Given the description of an element on the screen output the (x, y) to click on. 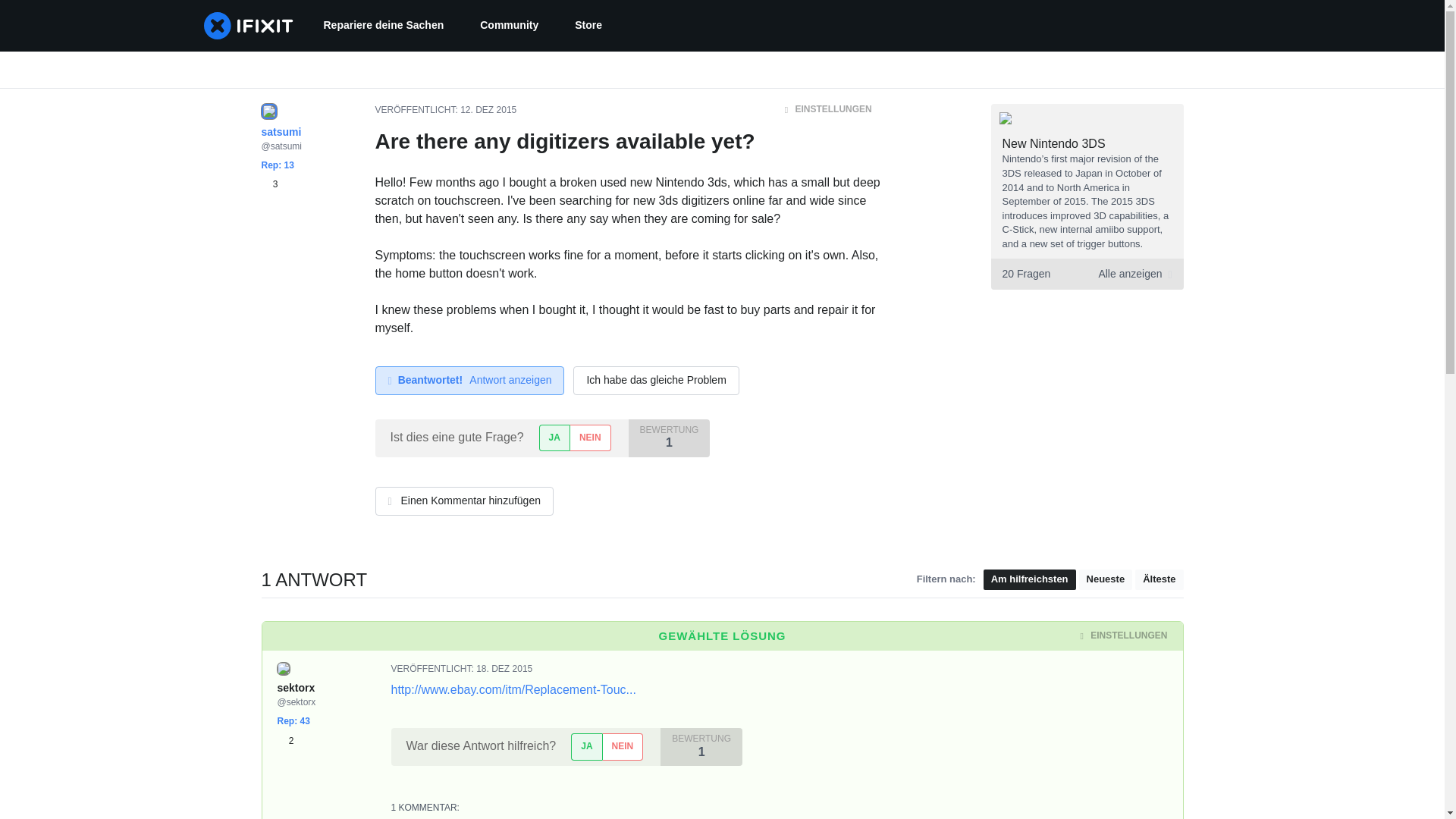
3 (269, 184)
Am hilfreichsten (1029, 579)
Store (588, 25)
NEIN (622, 746)
New Nintendo 3DS (1054, 143)
2 Bronze Auszeichnungen (286, 739)
Fri, 18 Dec 2015 04:36:07 -0700 (504, 668)
Sat, 12 Dec 2015 08:11:00 -0700 (1086, 273)
NEIN (488, 109)
